Given the description of an element on the screen output the (x, y) to click on. 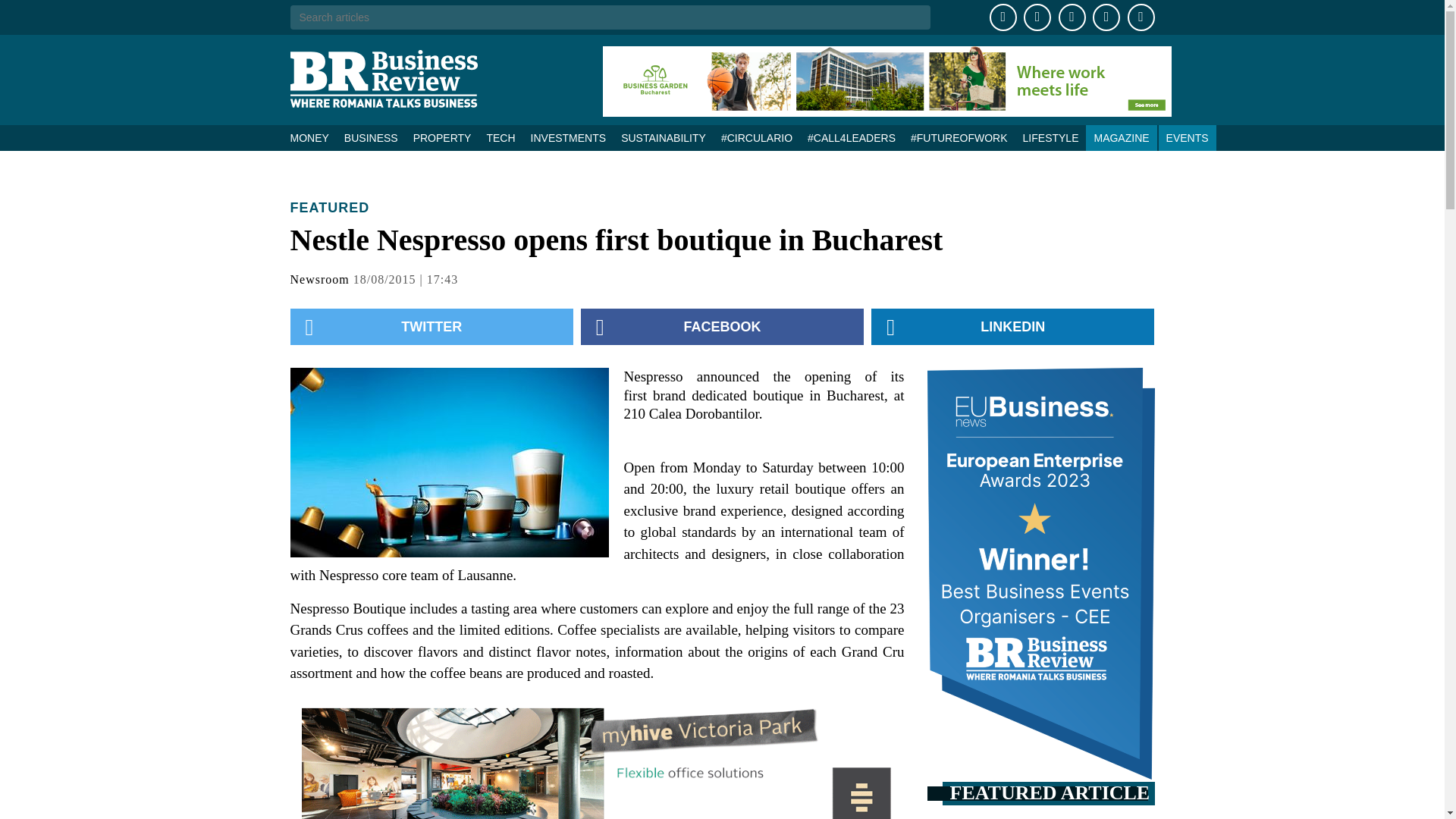
LIFESTYLE (1050, 137)
MAGAZINE (1121, 137)
INVESTMENTS (568, 137)
TECH (500, 137)
FACEBOOK (721, 326)
PROPERTY (442, 137)
Newsroom (319, 278)
BUSINESS (371, 137)
LINKEDIN (1012, 326)
SUSTAINABILITY (662, 137)
